Given the description of an element on the screen output the (x, y) to click on. 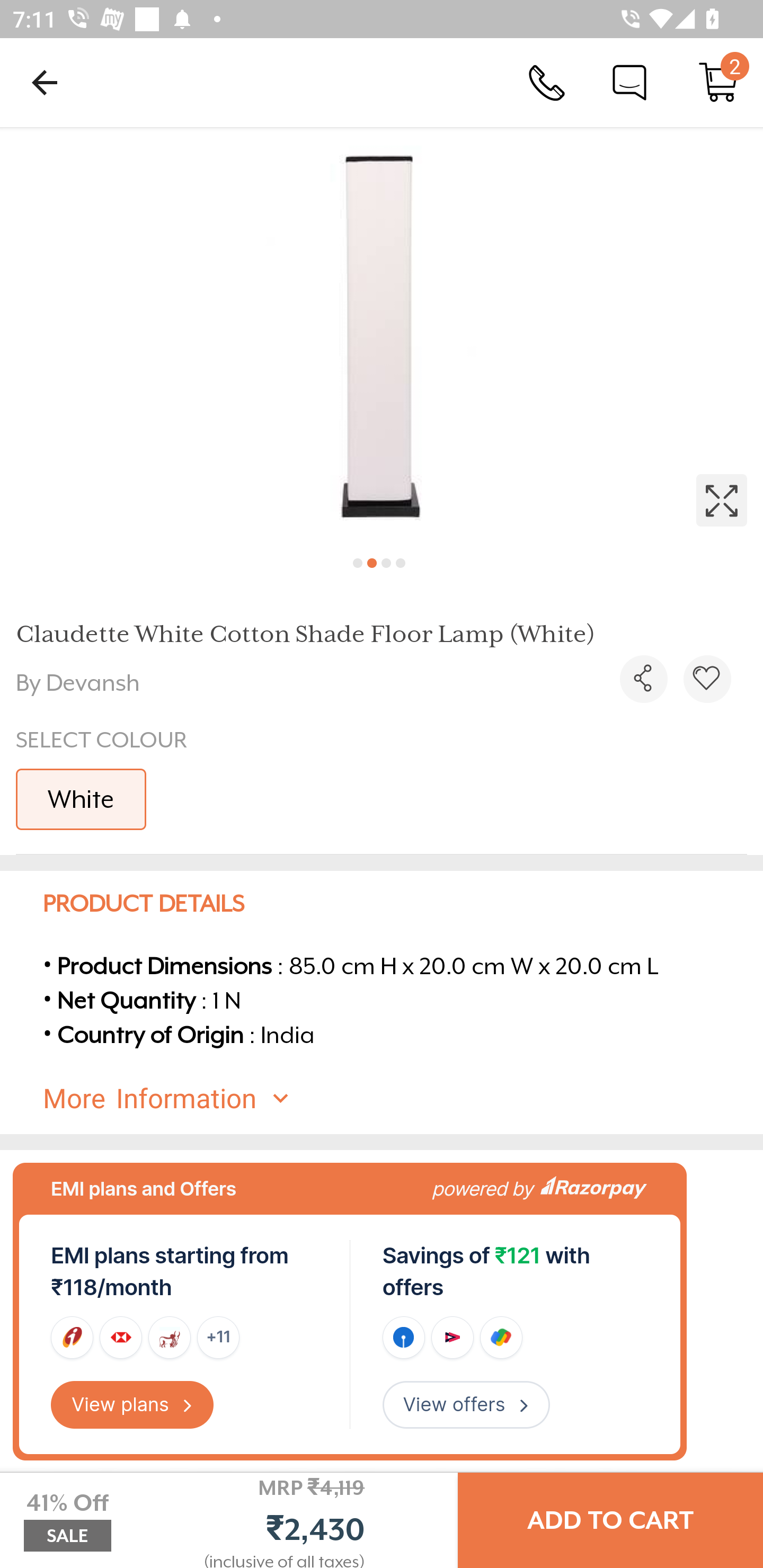
Navigate up (44, 82)
Call Us (546, 81)
Chat (629, 81)
Cart (718, 81)
 (381, 334)
 (643, 678)
 (706, 678)
White (81, 798)
More Information  (396, 1098)
View plans (132, 1404)
View offers (465, 1404)
ADD TO CART (610, 1520)
